Given the description of an element on the screen output the (x, y) to click on. 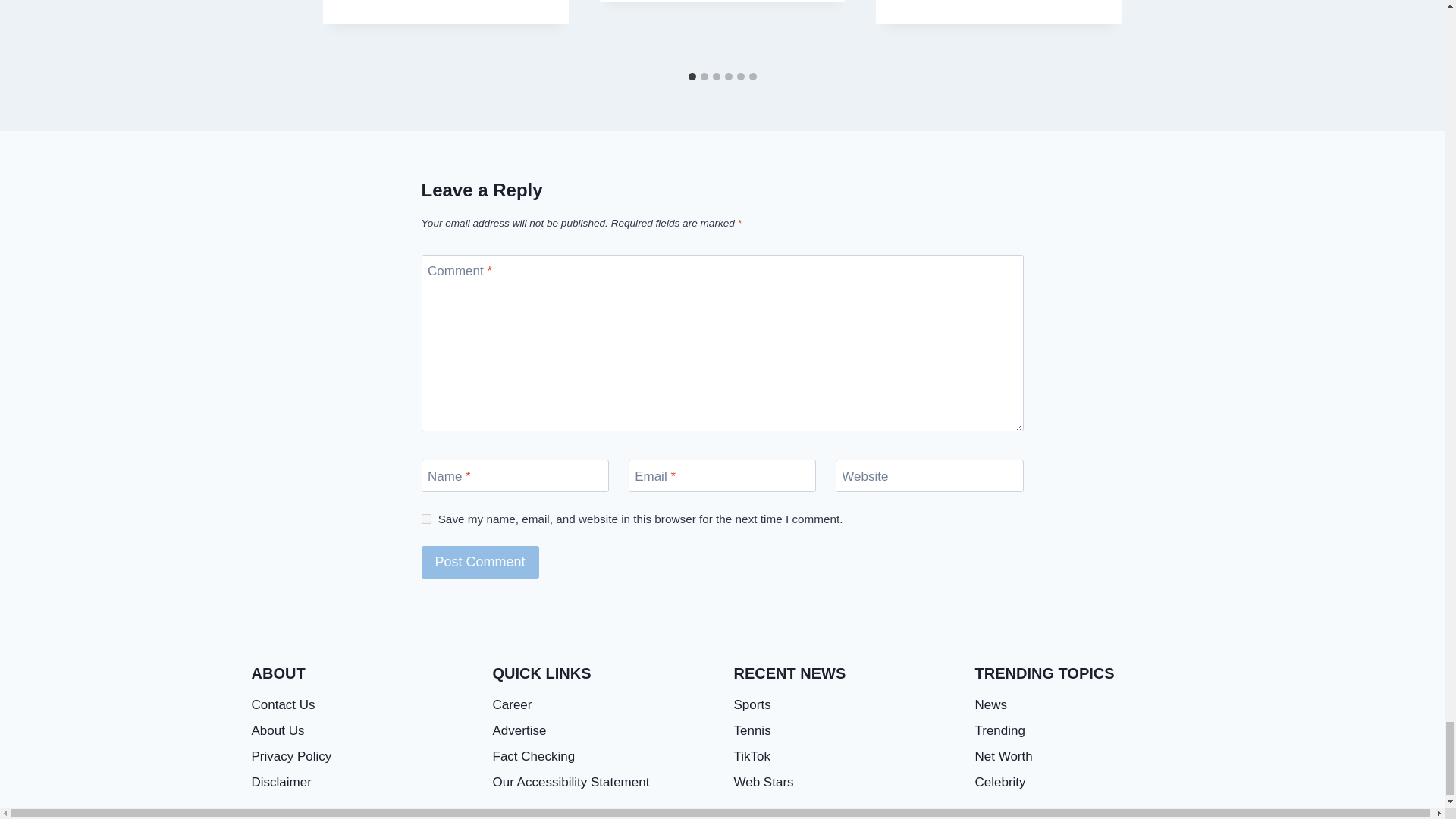
yes (426, 519)
Post Comment (480, 562)
